Given the description of an element on the screen output the (x, y) to click on. 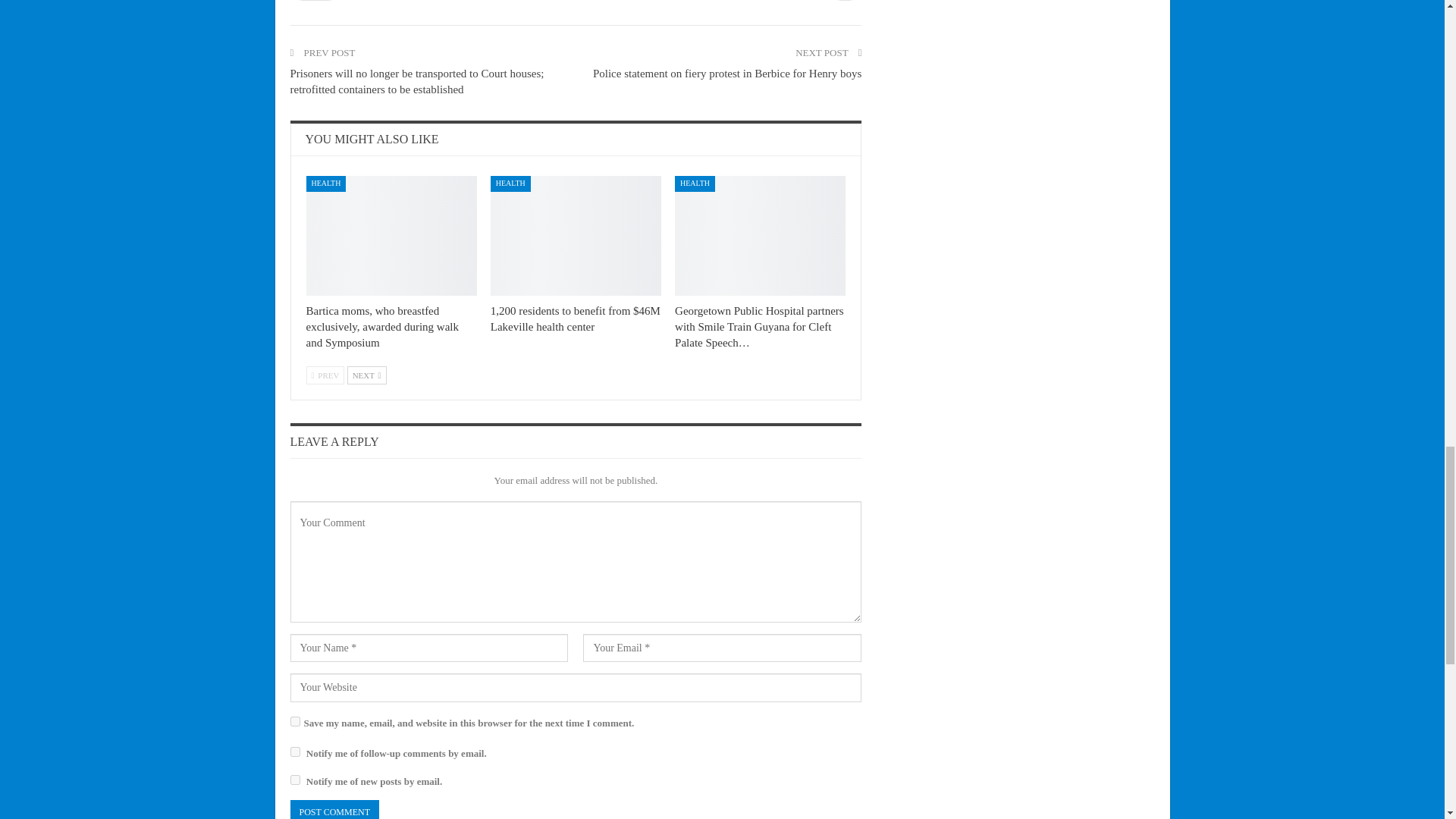
subscribe (294, 751)
yes (294, 721)
Post Comment (333, 809)
subscribe (294, 779)
